Given the description of an element on the screen output the (x, y) to click on. 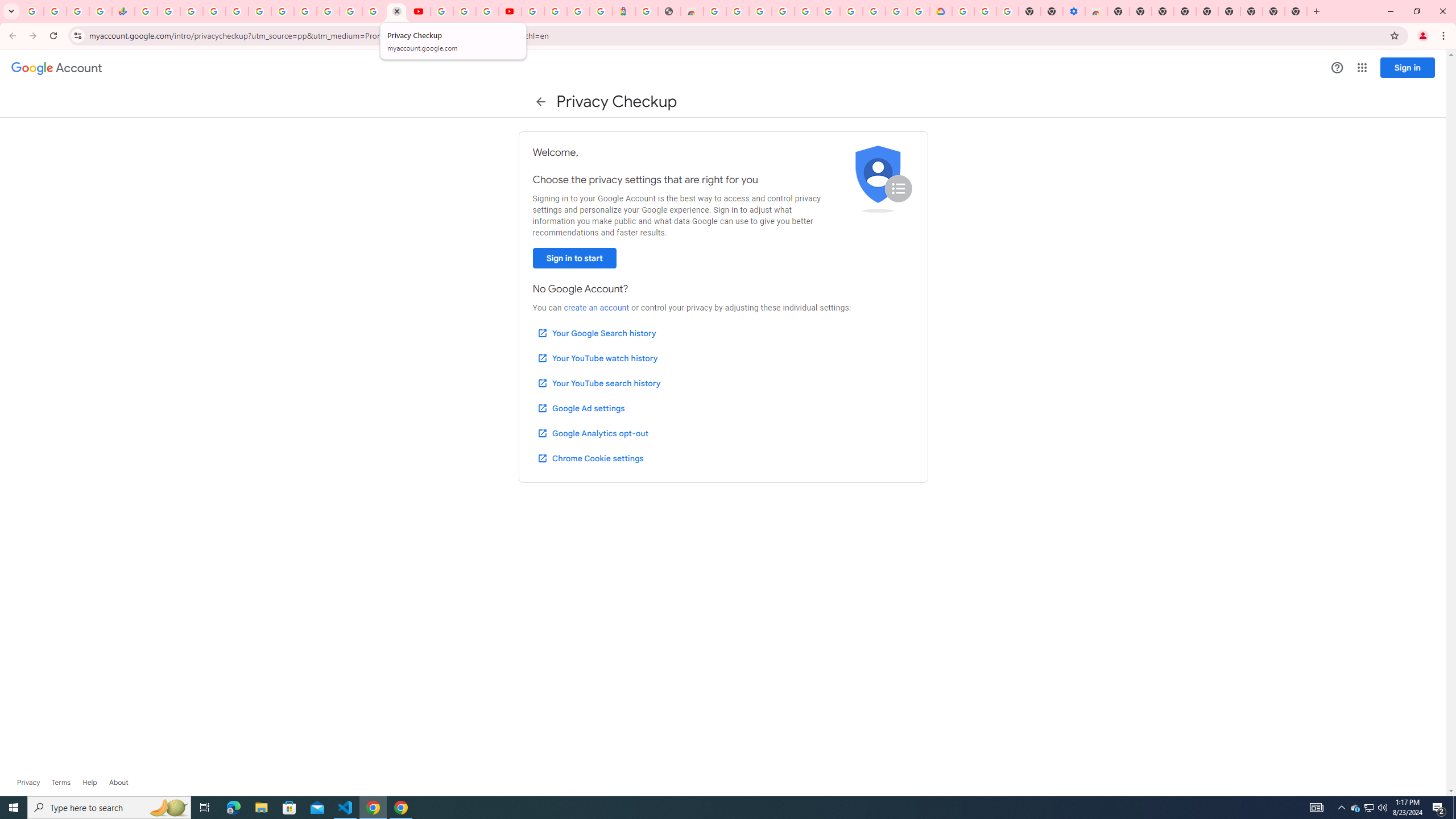
Google Analytics opt-out (592, 433)
YouTube (419, 11)
Turn cookies on or off - Computer - Google Account Help (1007, 11)
Help (89, 782)
Google Account Help (464, 11)
Your YouTube watch history (597, 358)
Google Workspace Admin Community (32, 11)
Privacy (28, 782)
Google Account Help (850, 11)
